Given the description of an element on the screen output the (x, y) to click on. 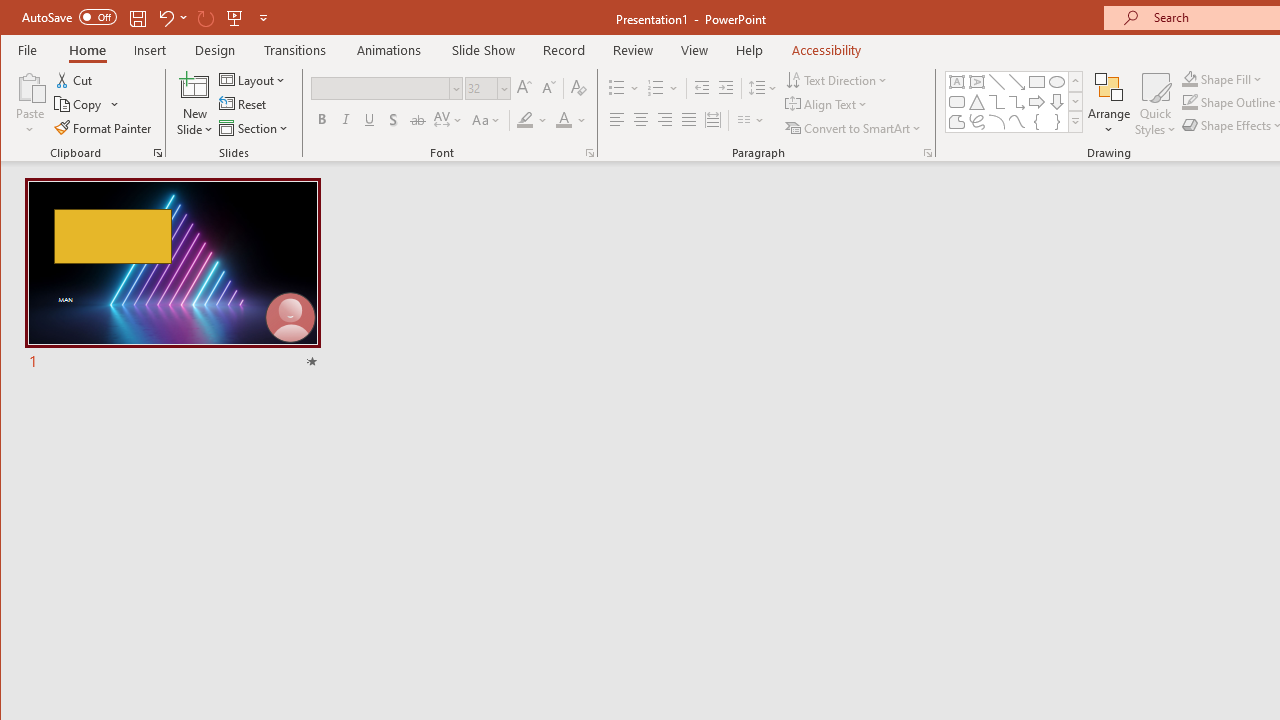
Oval (1057, 82)
Font Color (571, 119)
Transitions (294, 50)
Italic (346, 119)
Justify (689, 119)
Cut (74, 80)
Rectangle (1036, 82)
Animations (388, 50)
Align Right (664, 119)
View (694, 50)
Undo (165, 17)
Freeform: Shape (956, 121)
Undo (171, 17)
Open (502, 88)
Shape Fill Orange, Accent 2 (1189, 78)
